Given the description of an element on the screen output the (x, y) to click on. 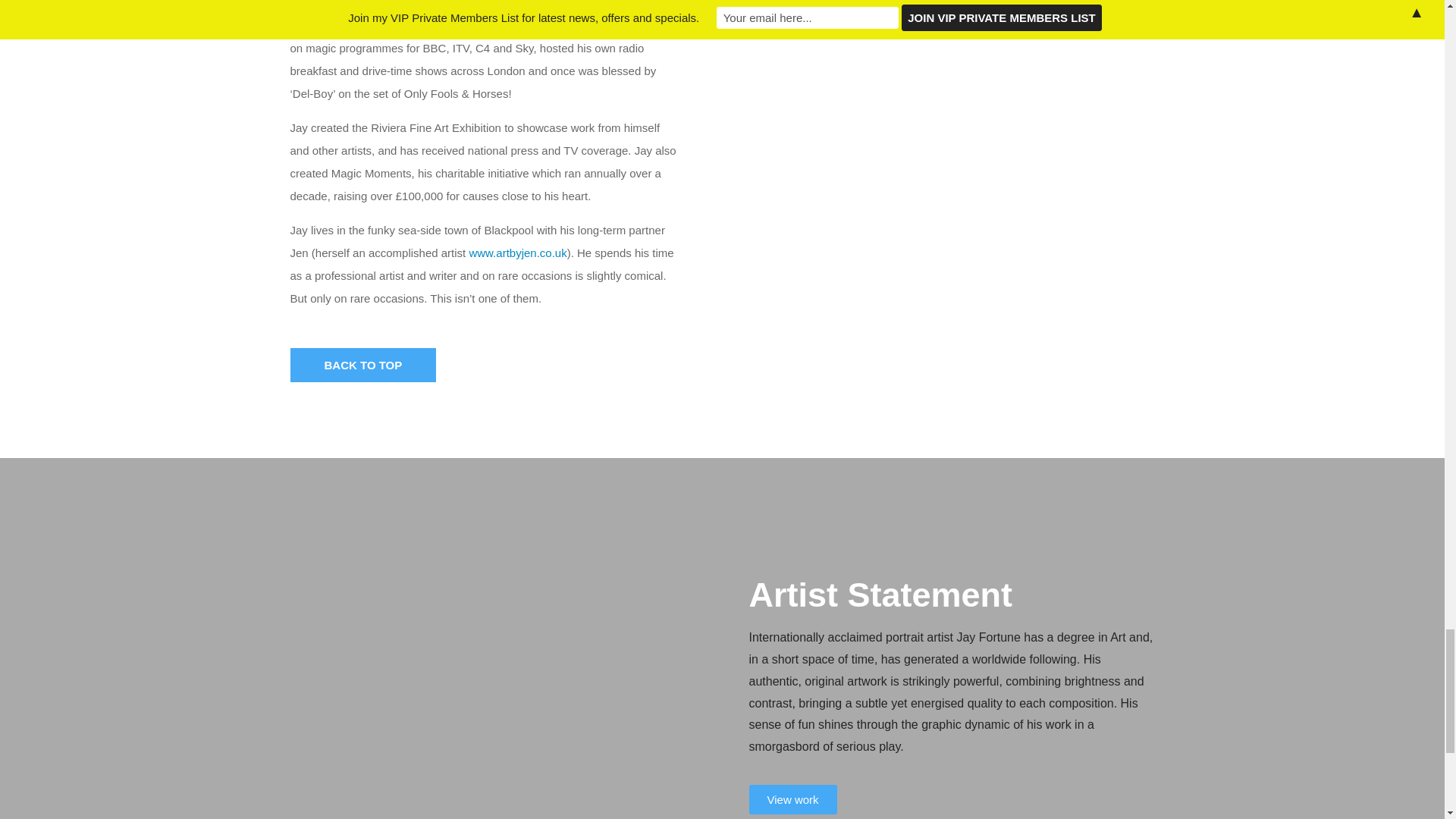
www.artbyjen.co.uk (517, 252)
View work (793, 799)
BACK TO TOP (362, 365)
